Given the description of an element on the screen output the (x, y) to click on. 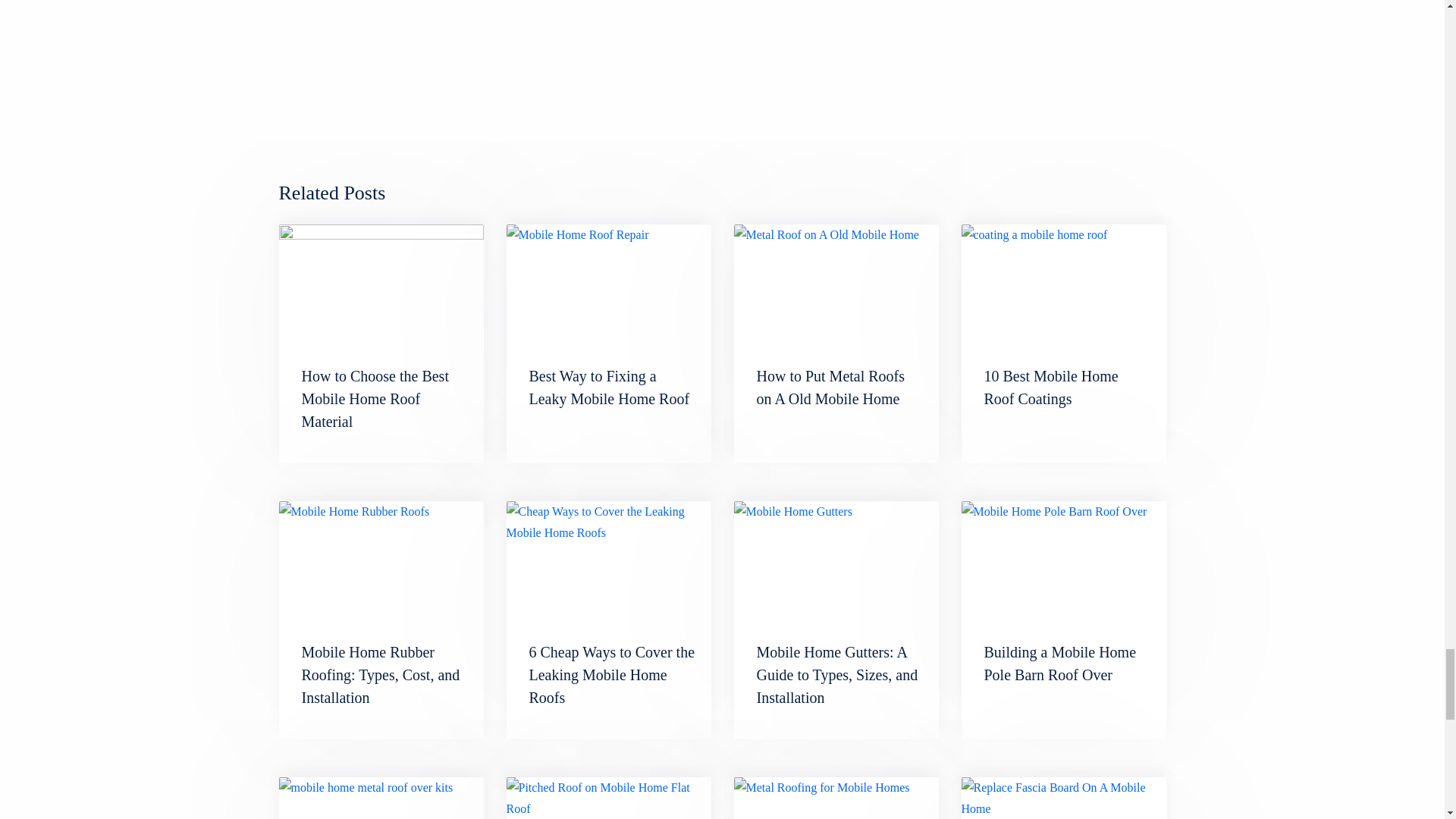
6 Fascia Board Options for Your Mobile Home (381, 282)
6 Fascia Board Options for Your Mobile Home (383, 387)
Mobile Home Rubber Roofing: Types, Cost, and Installation (380, 674)
6 Fascia Board Options for Your Mobile Home (383, 387)
10 Best Mobile Home Roof Coatings (824, 663)
Building a Mobile Home Pole Barn Roof Over (605, 387)
Mobile Home Rubber Roofing: Types, Cost, and Installation (381, 559)
